Given the description of an element on the screen output the (x, y) to click on. 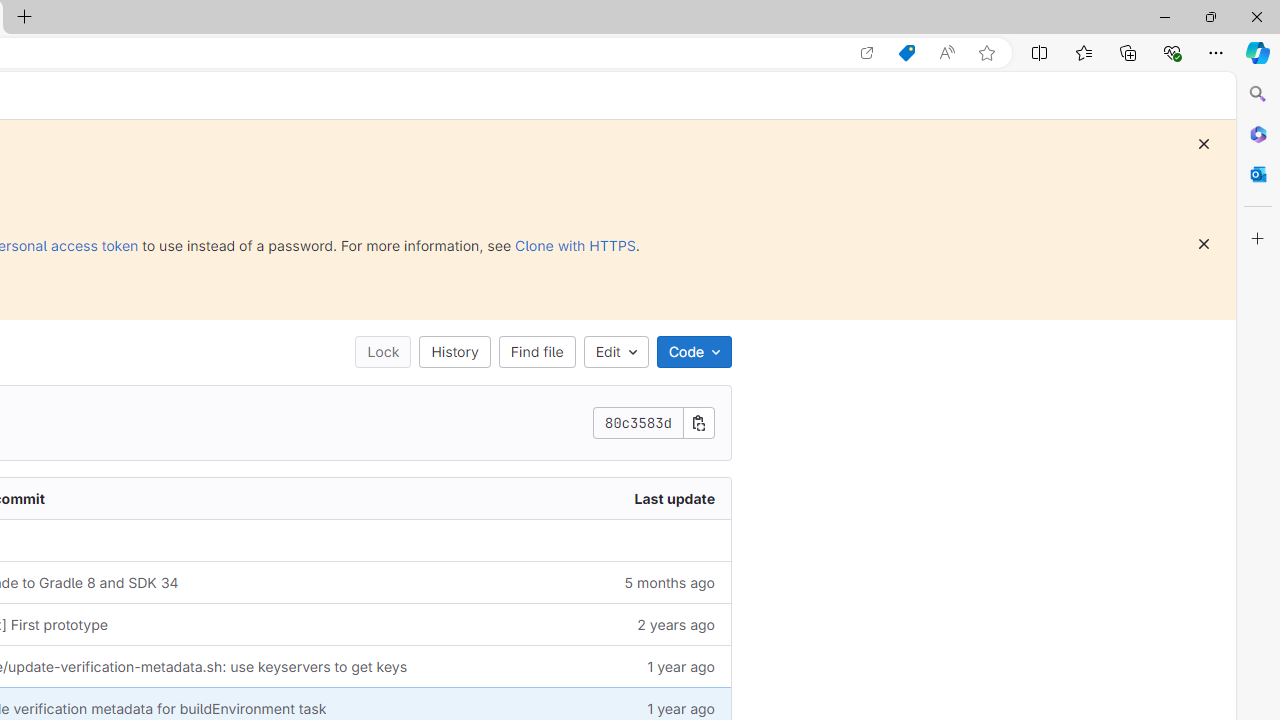
1 year ago (613, 666)
Lock (383, 351)
Class: s16 gl-icon gl-button-icon  (1203, 243)
History (454, 351)
Edit (615, 351)
2 years ago (613, 624)
